Given the description of an element on the screen output the (x, y) to click on. 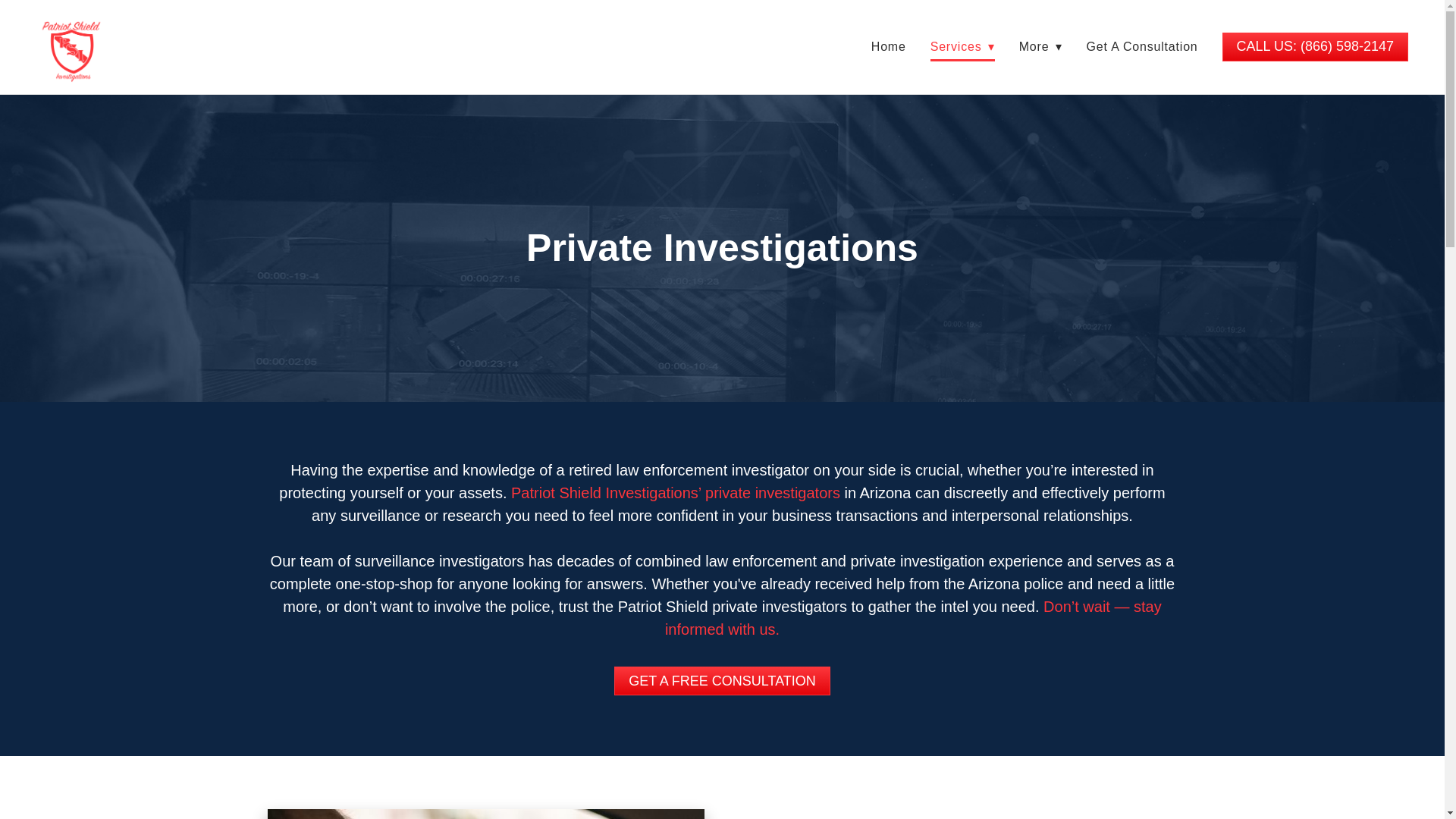
GET A FREE CONSULTATION (721, 680)
Patriot Shield Investigations (72, 50)
Home (887, 46)
Get A Consultation (1142, 46)
